Given the description of an element on the screen output the (x, y) to click on. 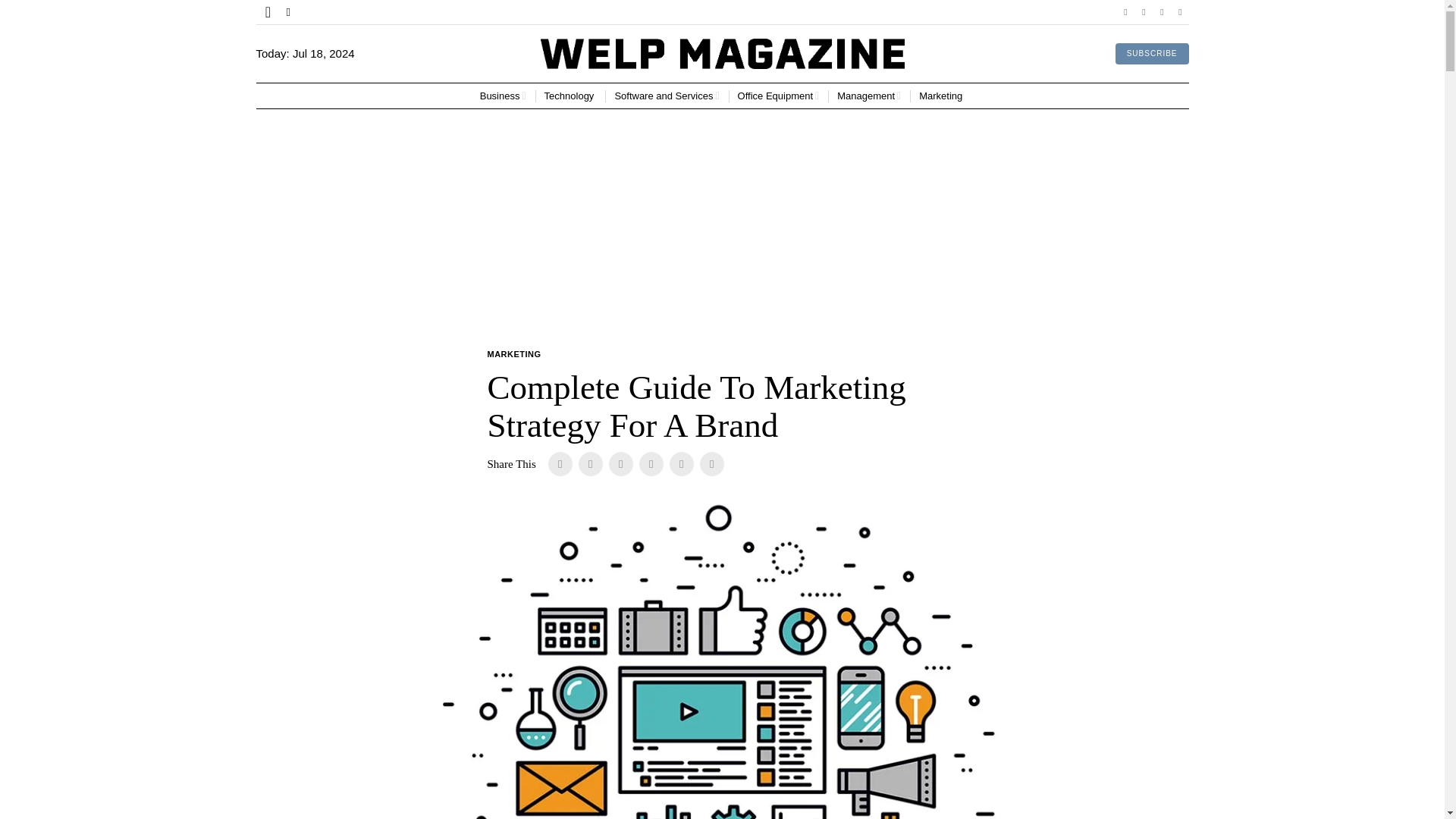
Software and Services (666, 95)
SUBSCRIBE (1152, 53)
Office Equipment (778, 95)
Management (869, 95)
Marketing (942, 95)
Business (502, 95)
MARKETING (513, 354)
Technology (570, 95)
